Given the description of an element on the screen output the (x, y) to click on. 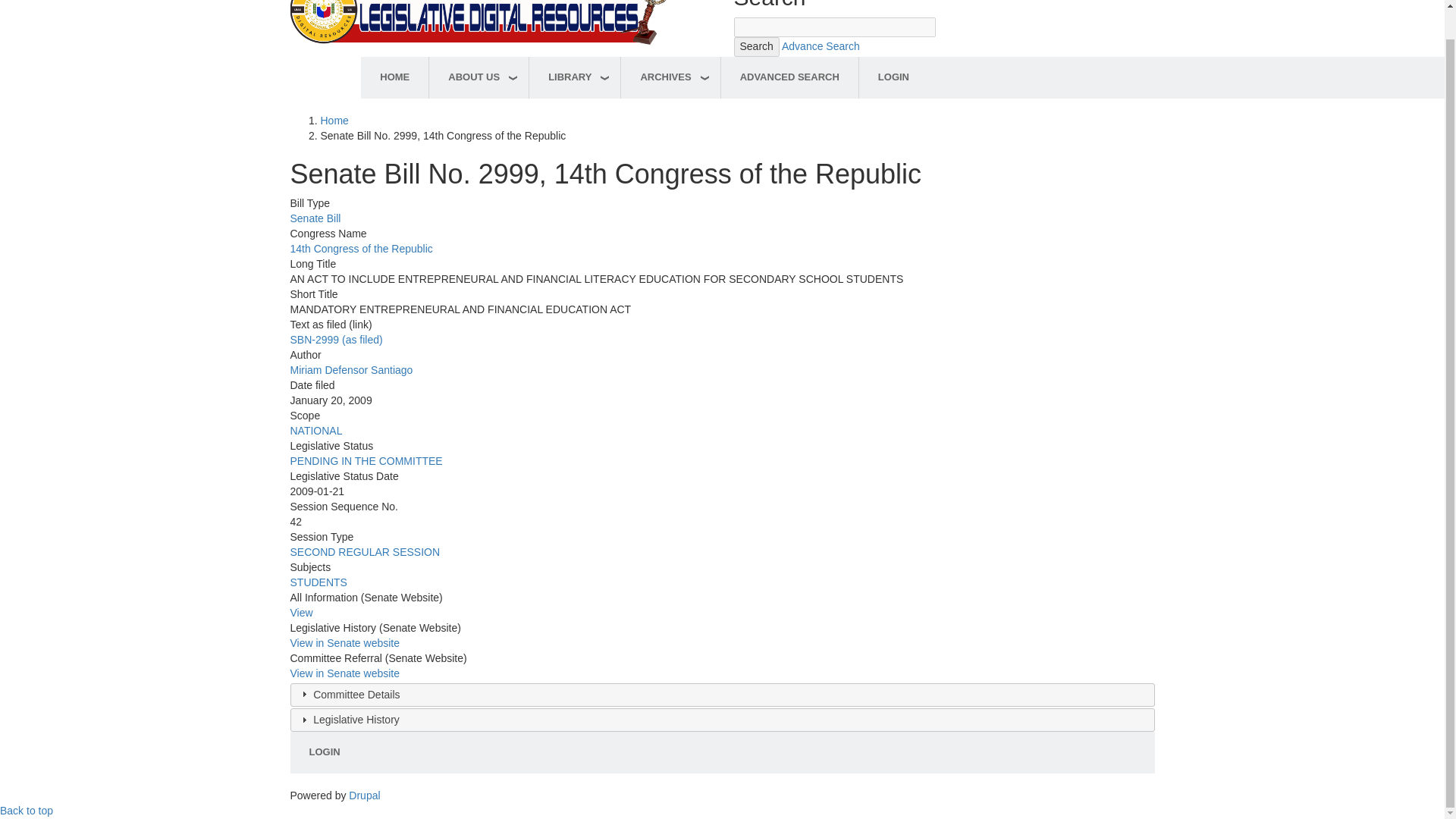
ABOUT US (478, 77)
Library (574, 77)
About Us (478, 77)
Home (478, 6)
Search (755, 46)
Advance Search (820, 46)
Advance Search (820, 46)
LIBRARY (574, 77)
Search (755, 46)
HOME (394, 77)
